Given the description of an element on the screen output the (x, y) to click on. 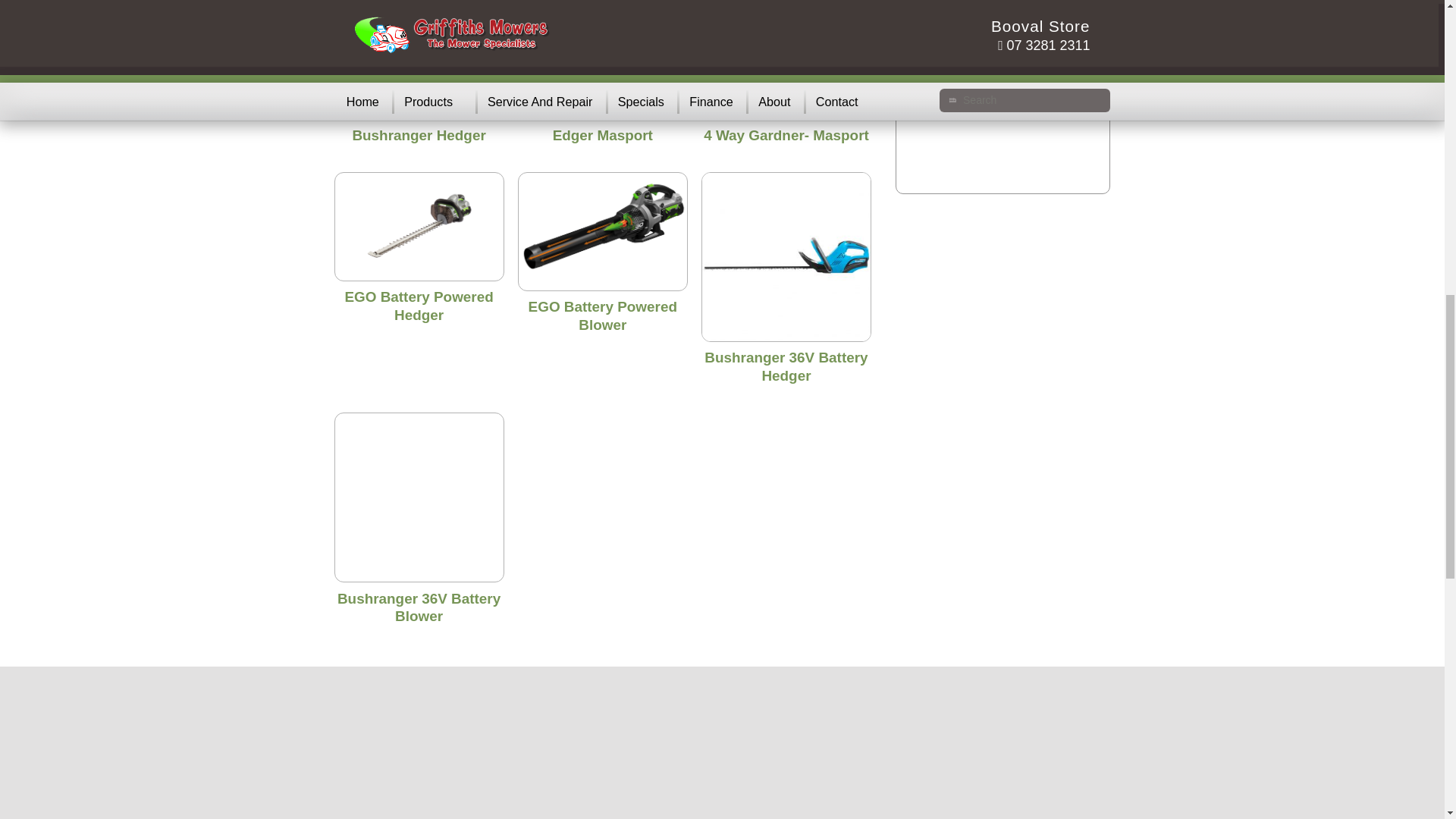
4 Way Gardner- Masport (786, 135)
EGO Battery Powered Hedger (418, 305)
EGO Battery Powered Blower (602, 315)
Edger Masport (602, 135)
Bushranger Hedger (418, 135)
